Given the description of an element on the screen output the (x, y) to click on. 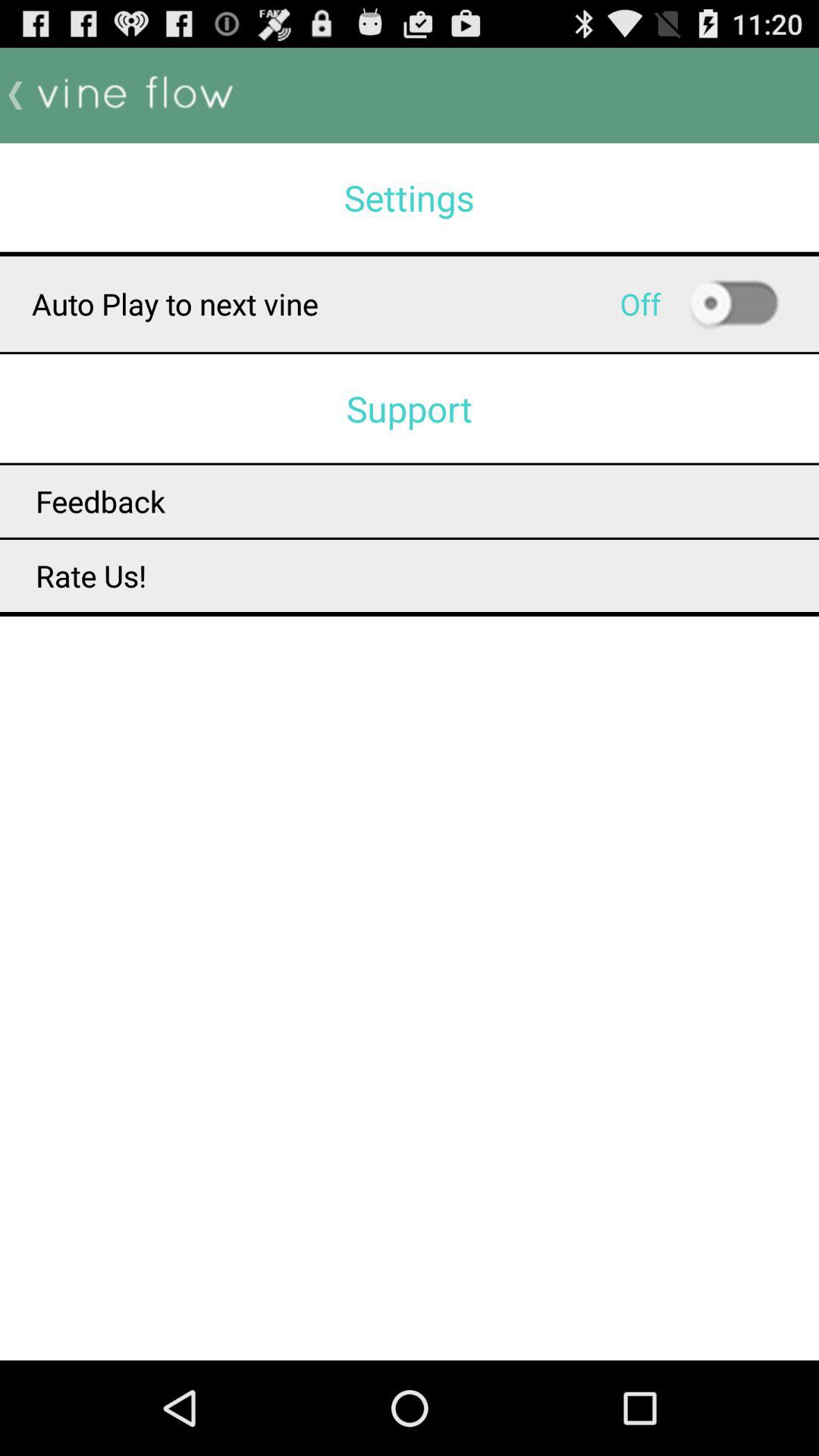
launch item to the right of the off item (733, 304)
